Given the description of an element on the screen output the (x, y) to click on. 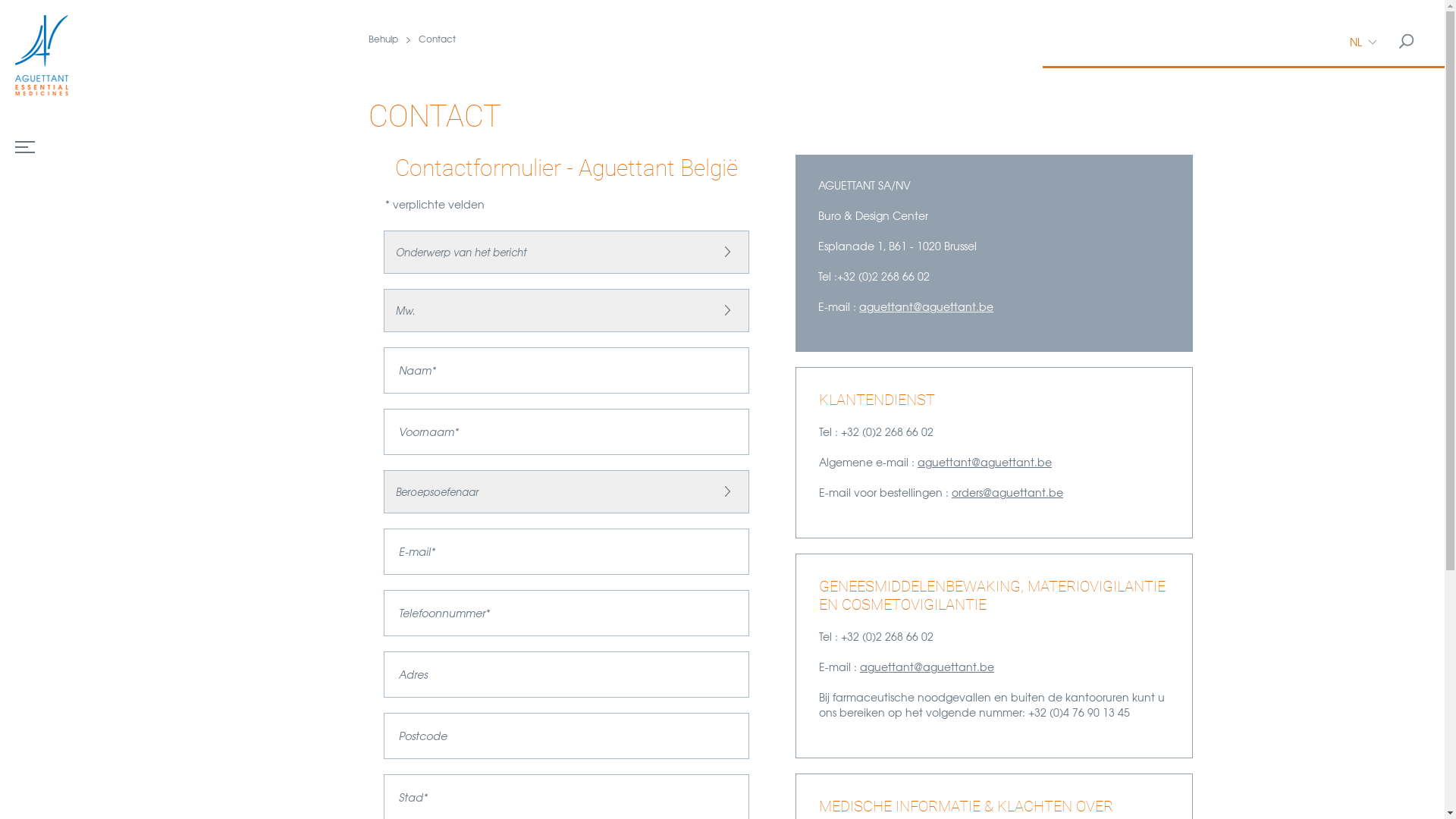
orders@aguettant.be Element type: text (1007, 491)
aguettant@aguettant.be Element type: text (926, 305)
aguettant@aguettant.be Element type: text (984, 461)
Behulp Element type: text (393, 38)
Rechercher Element type: text (1406, 41)
aguettant@aguettant.be Element type: text (926, 666)
